Given the description of an element on the screen output the (x, y) to click on. 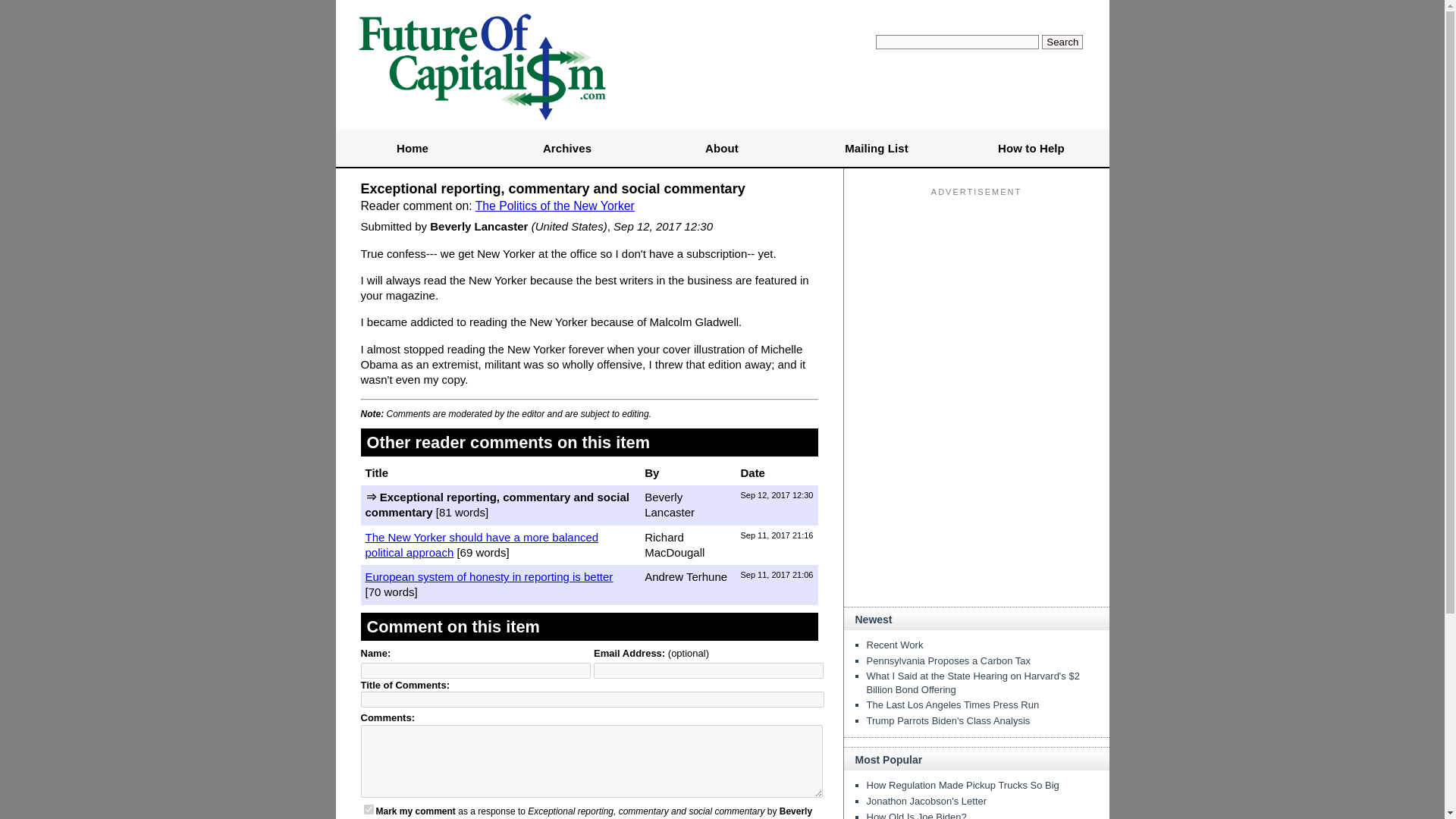
Home (411, 148)
Advertisement (976, 296)
Advertisement (976, 498)
The Future of Capitalism (480, 64)
The Last Los Angeles Times Press Run (952, 704)
Mailing List (876, 148)
Archives (567, 148)
Pennsylvania Proposes a Carbon Tax (948, 660)
Recent Work (894, 644)
The Politics of the New Yorker (555, 205)
